Given the description of an element on the screen output the (x, y) to click on. 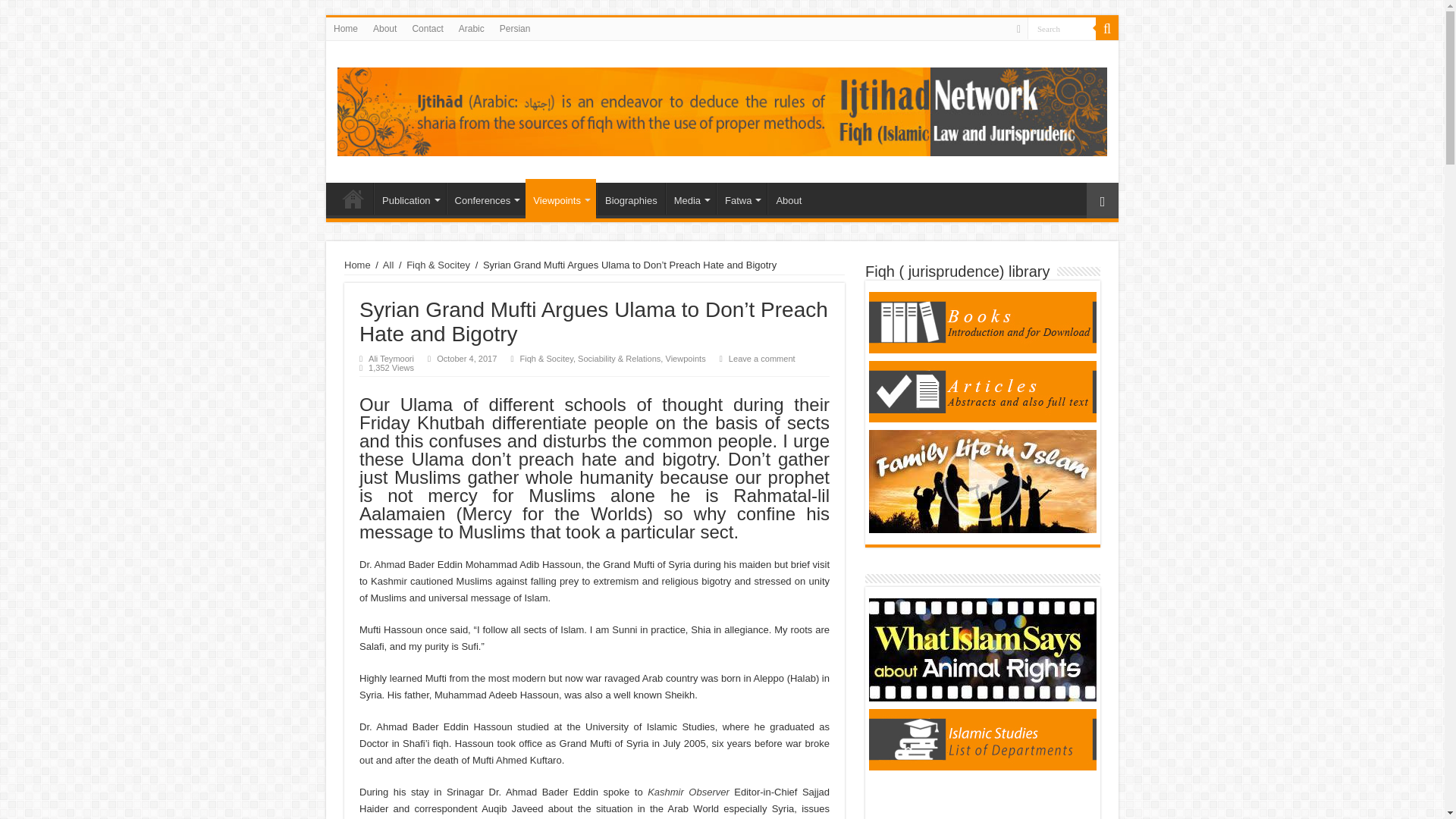
Ijtihad Network (721, 108)
Search (1061, 28)
Home (352, 198)
Arabic (471, 28)
Viewpoints (560, 198)
Publication (409, 198)
Conferences (485, 198)
Search (1061, 28)
Contact (426, 28)
Home (345, 28)
About (384, 28)
Search (1061, 28)
Persian (515, 28)
Search (1107, 28)
